Given the description of an element on the screen output the (x, y) to click on. 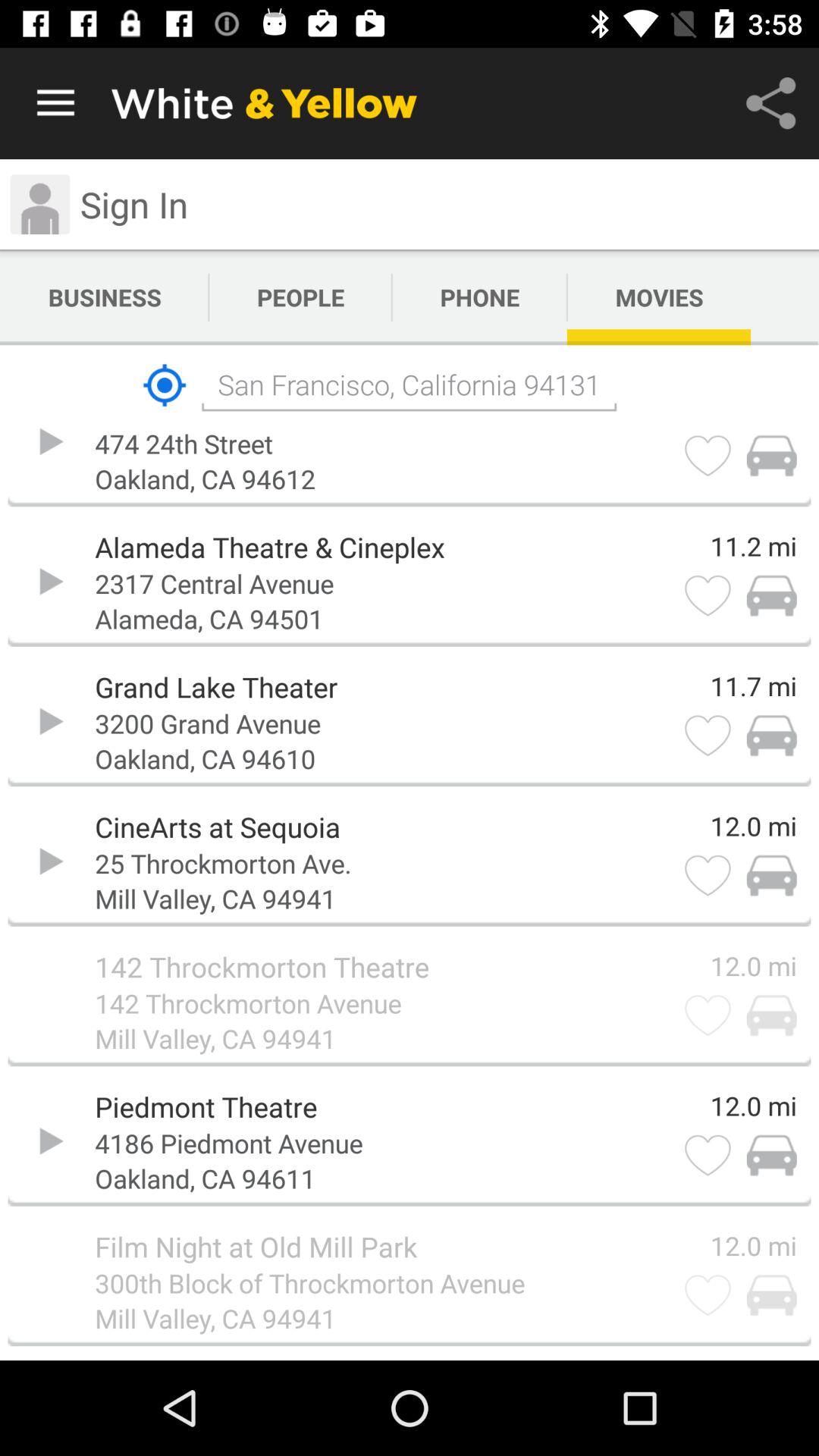
turn off the item next to the phone icon (659, 297)
